Given the description of an element on the screen output the (x, y) to click on. 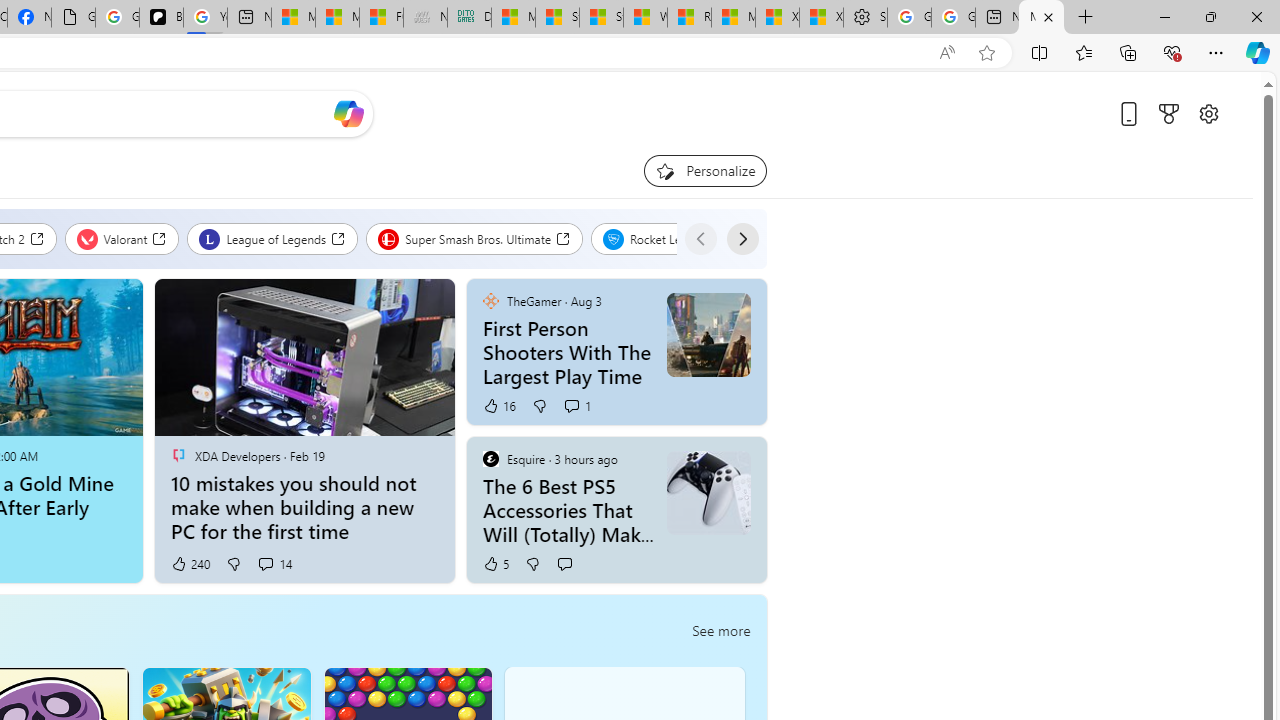
View comments 14 Comment (274, 564)
Esquire (490, 458)
